Given the description of an element on the screen output the (x, y) to click on. 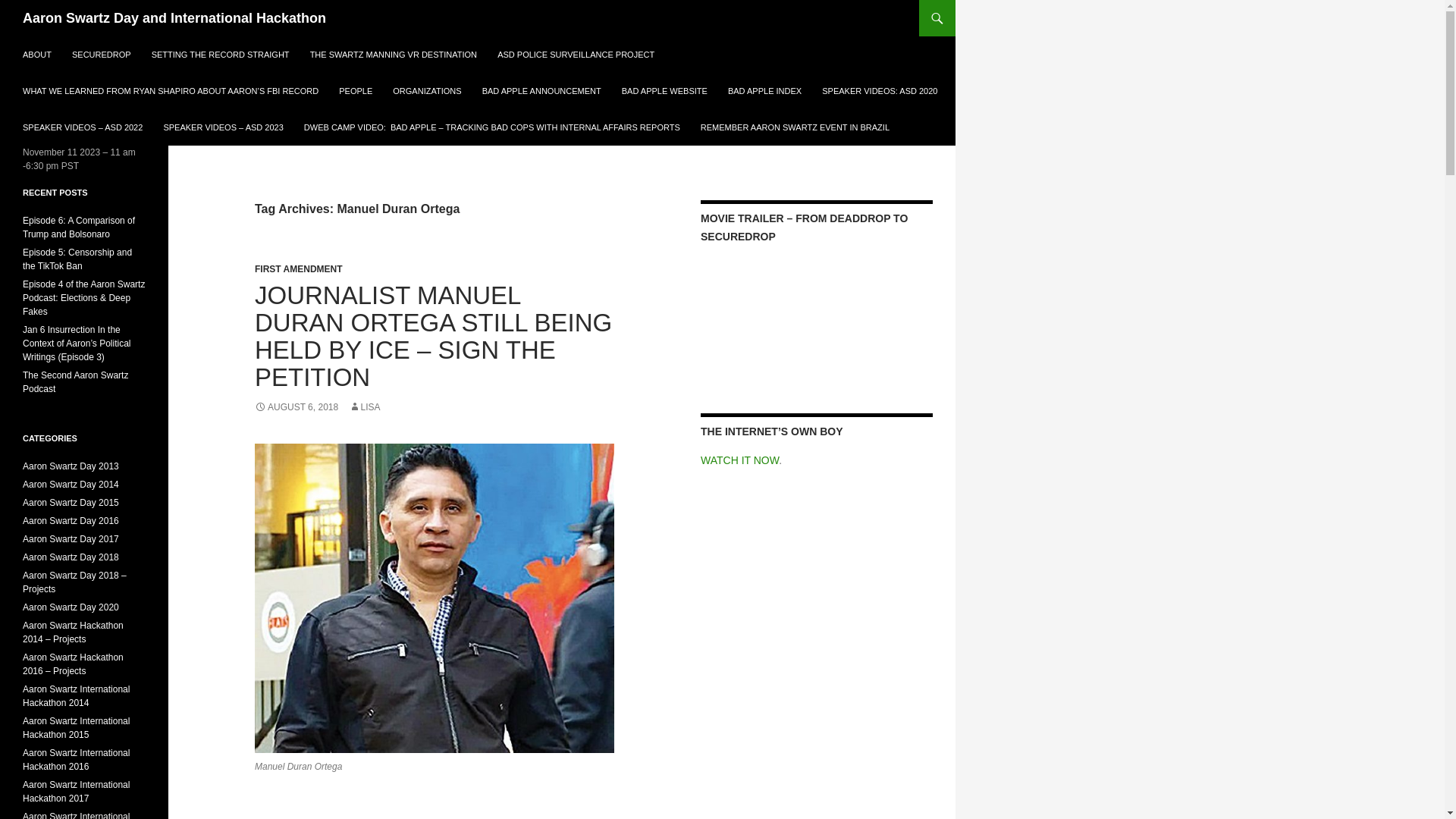
PEOPLE (355, 90)
SECUREDROP (100, 54)
BAD APPLE INDEX (764, 90)
ASD POLICE SURVEILLANCE PROJECT (575, 54)
ABOUT (37, 54)
AUGUST 6, 2018 (295, 407)
BAD APPLE WEBSITE (664, 90)
FIRST AMENDMENT (298, 268)
LISA (364, 407)
ORGANIZATIONS (427, 90)
SETTING THE RECORD STRAIGHT (220, 54)
THE SWARTZ MANNING VR DESTINATION (393, 54)
REMEMBER AARON SWARTZ EVENT IN BRAZIL (794, 126)
BAD APPLE ANNOUNCEMENT (541, 90)
